Given the description of an element on the screen output the (x, y) to click on. 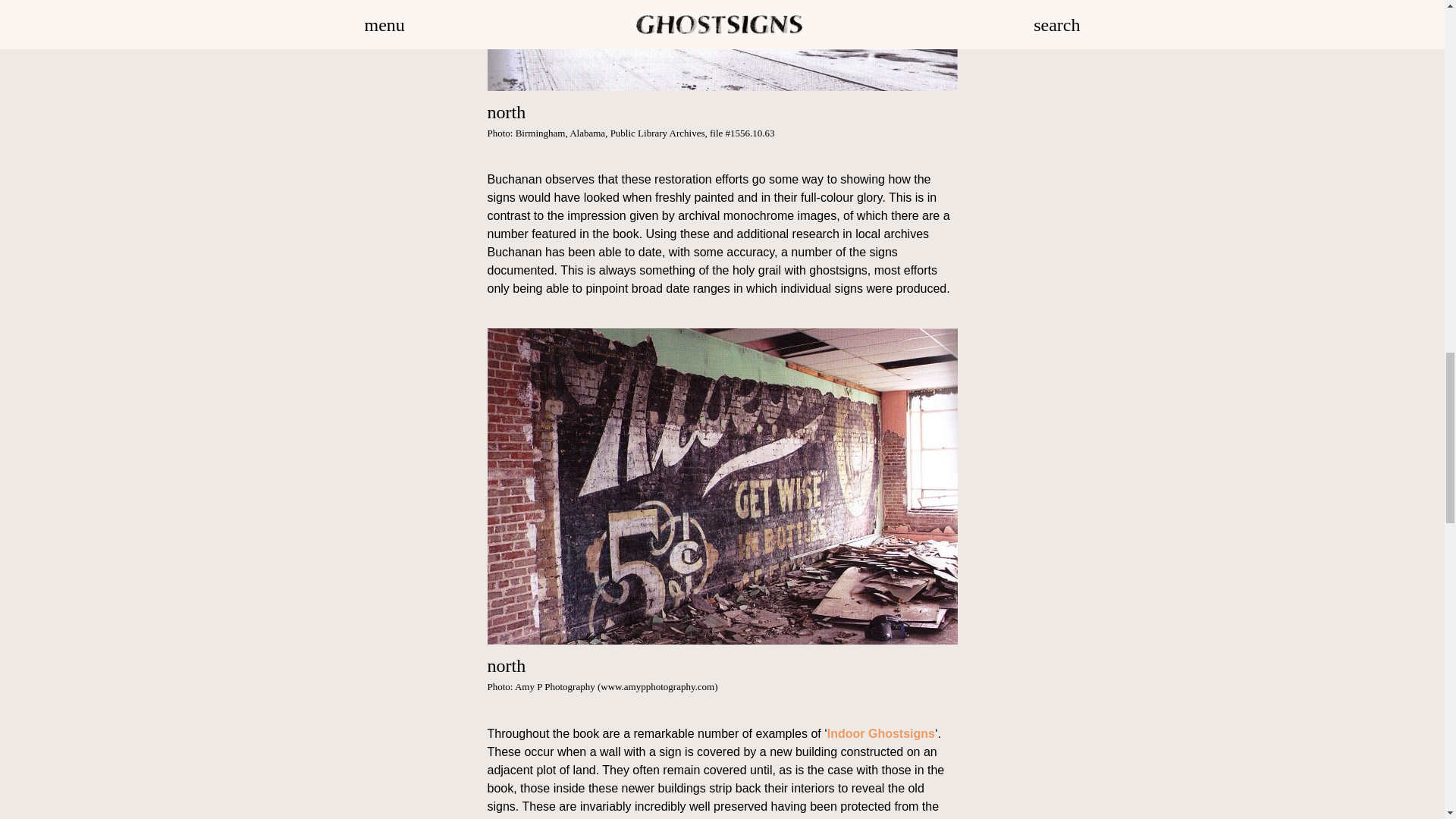
Indoor Ghostsigns (880, 733)
Blog posts about indoor ghostsigns (880, 733)
